Given the description of an element on the screen output the (x, y) to click on. 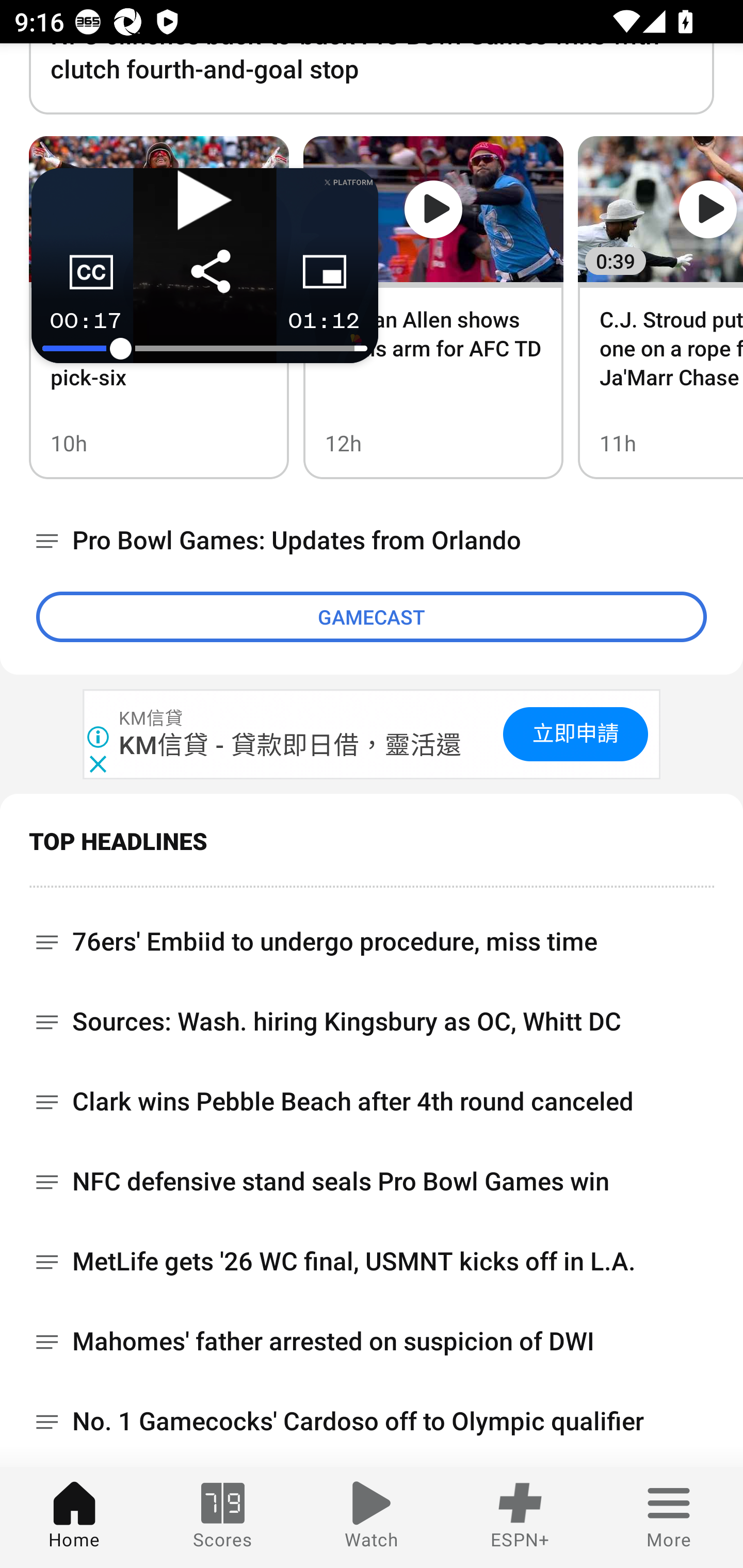
 Pro Bowl Games: Updates from Orlando (371, 540)
GAMECAST (371, 616)
KM信貸 (151, 718)
立即申請 (575, 734)
KM信貸 - 貸款即日借，靈活還 (290, 745)
 76ers' Embiid to undergo procedure, miss time (371, 934)
 Sources: Wash. hiring Kingsbury as OC, Whitt DC (371, 1021)
 Clark wins Pebble Beach after 4th round canceled (371, 1101)
 NFC defensive stand seals Pro Bowl Games win (371, 1181)
 Mahomes' father arrested on suspicion of DWI (371, 1341)
Scores (222, 1517)
Watch (371, 1517)
ESPN+ (519, 1517)
More (668, 1517)
